Given the description of an element on the screen output the (x, y) to click on. 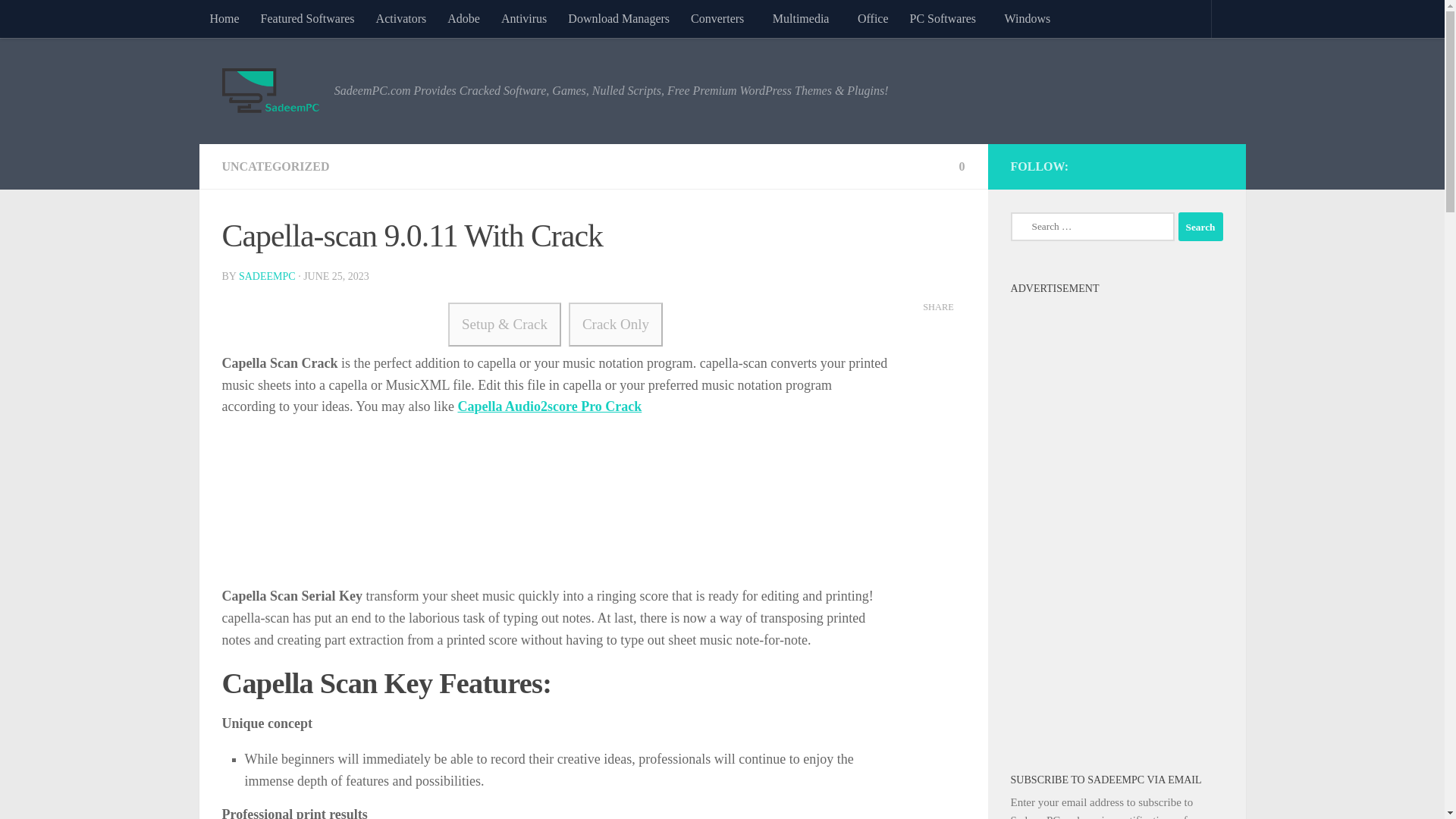
Skip to content (59, 20)
Posts by SadeemPC (266, 276)
Search (1200, 226)
Search (1200, 226)
